Given the description of an element on the screen output the (x, y) to click on. 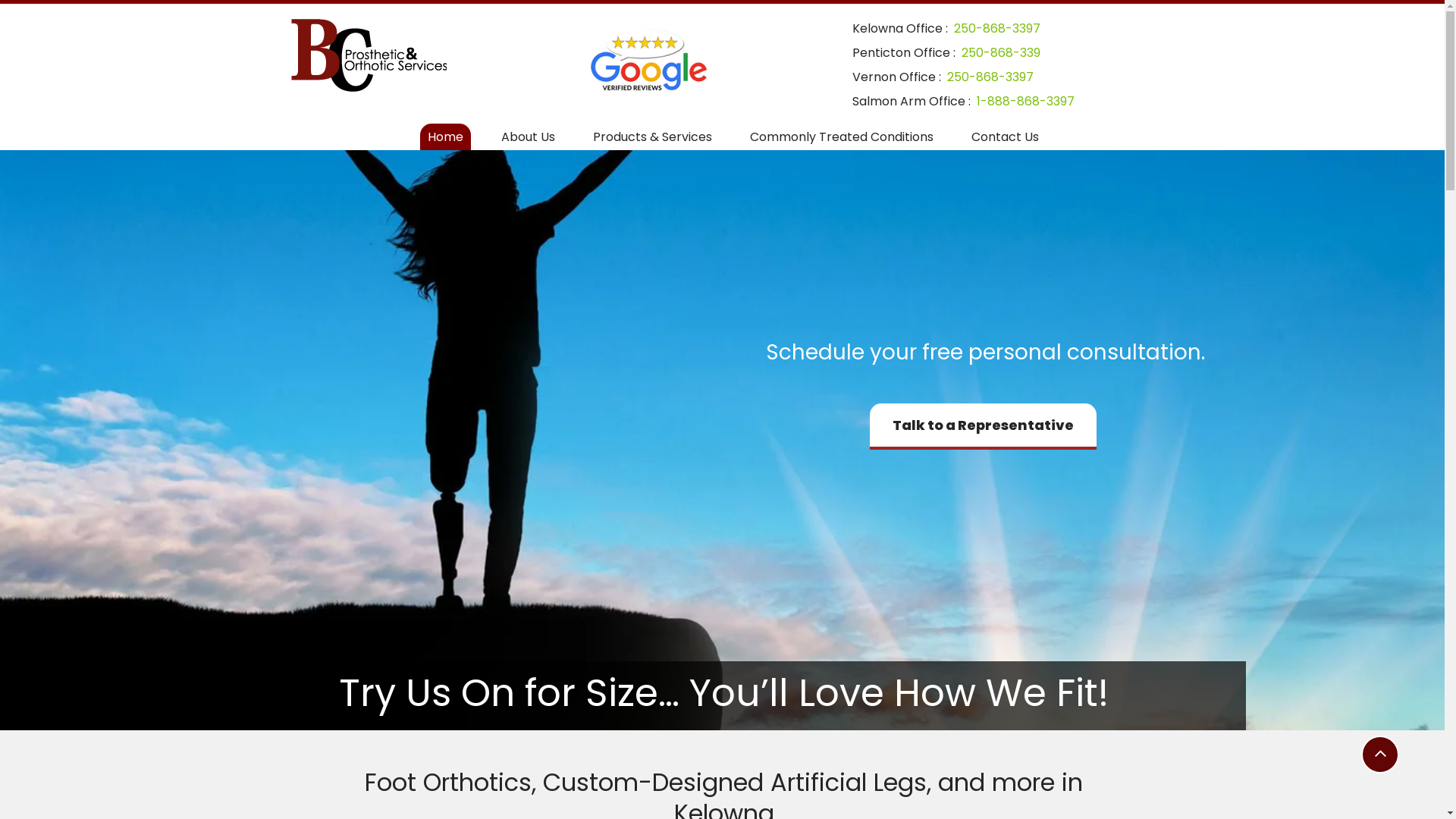
250-868-3397 Element type: text (996, 28)
Contact Us Element type: text (1004, 136)
Commonly Treated Conditions Element type: text (841, 136)
Home Element type: text (445, 136)
250-868-339 Element type: text (1000, 52)
1-888-868-3397 Element type: text (1025, 100)
Products & Services Element type: text (652, 136)
250-868-3397 Element type: text (989, 76)
About Us Element type: text (527, 136)
BC PROSTHETIC Element type: hover (368, 54)
Talk to a Representative Element type: text (982, 426)
